Given the description of an element on the screen output the (x, y) to click on. 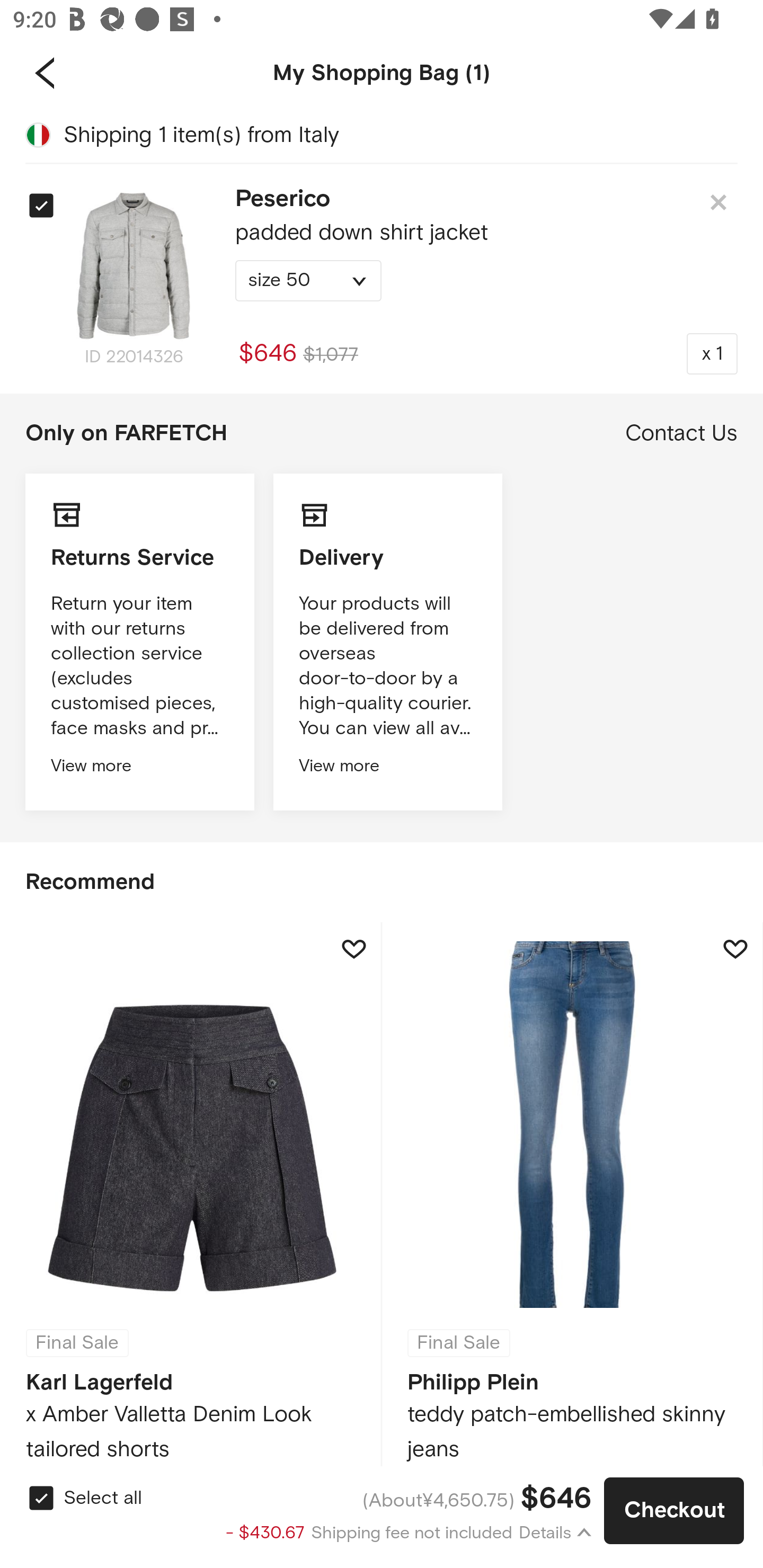
size 50 (308, 280)
x 1 (711, 353)
Contact Us (680, 433)
Checkout (673, 1510)
